Given the description of an element on the screen output the (x, y) to click on. 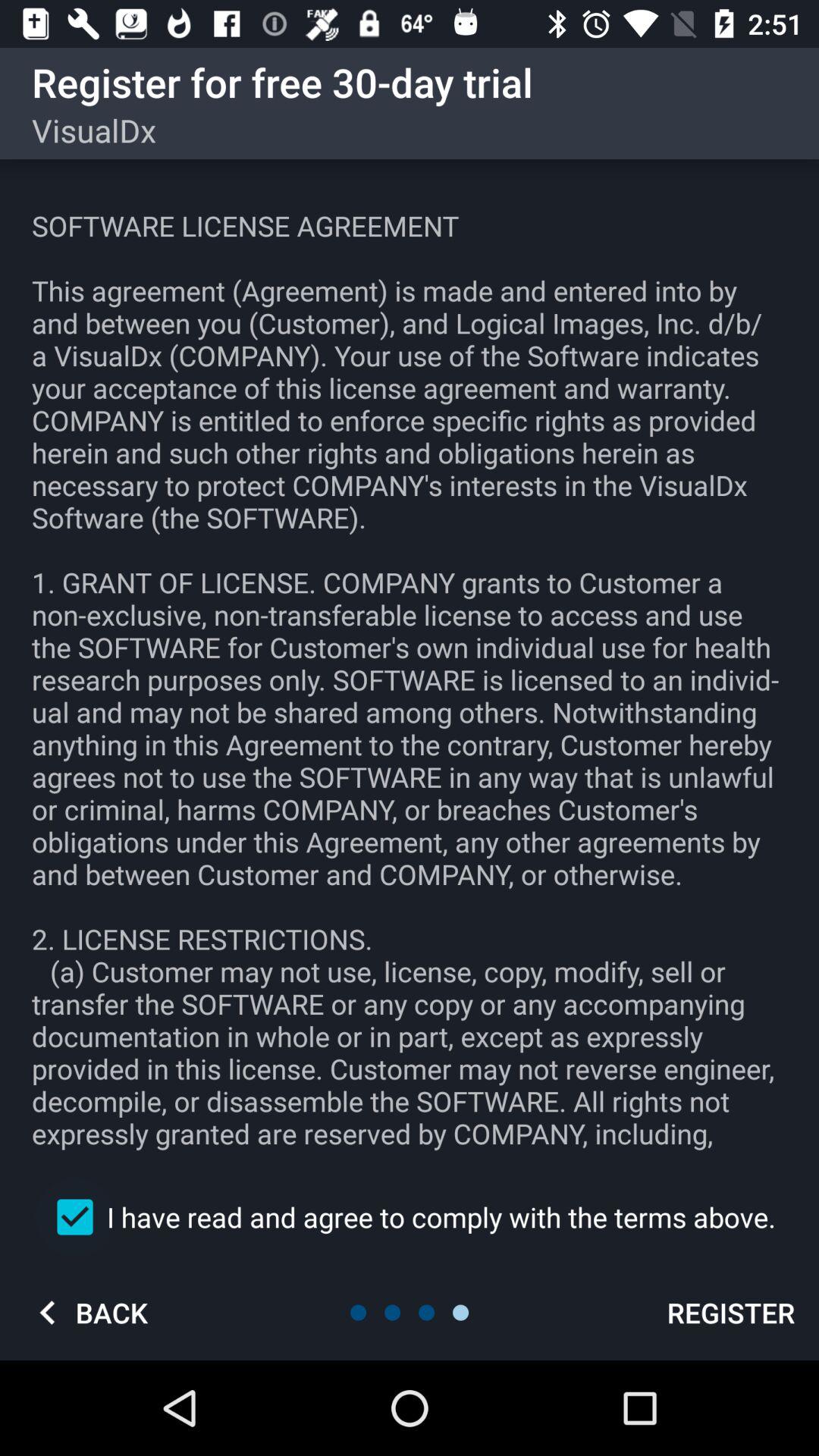
turn off the icon below i have read (87, 1312)
